Given the description of an element on the screen output the (x, y) to click on. 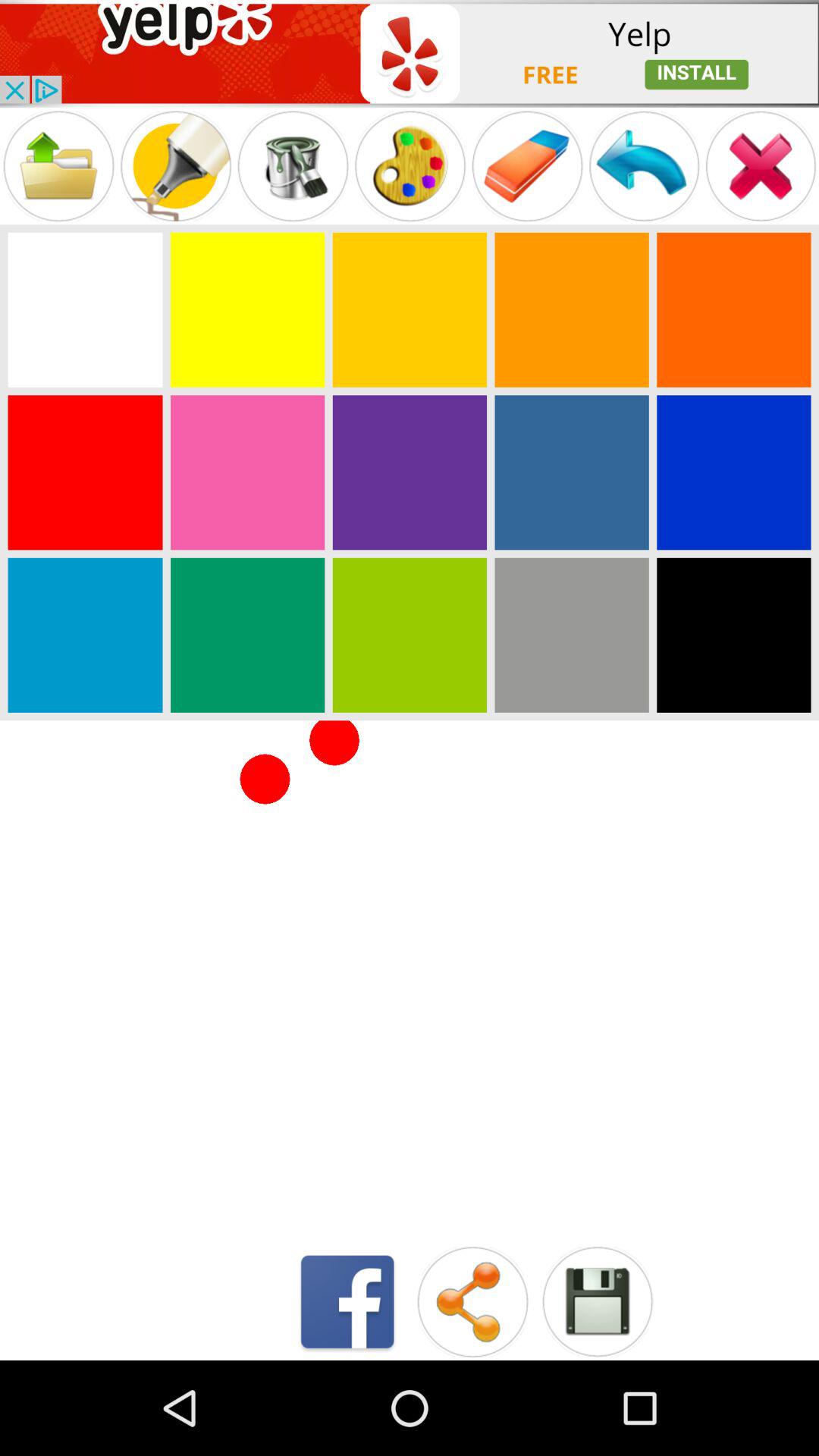
select color (247, 309)
